Given the description of an element on the screen output the (x, y) to click on. 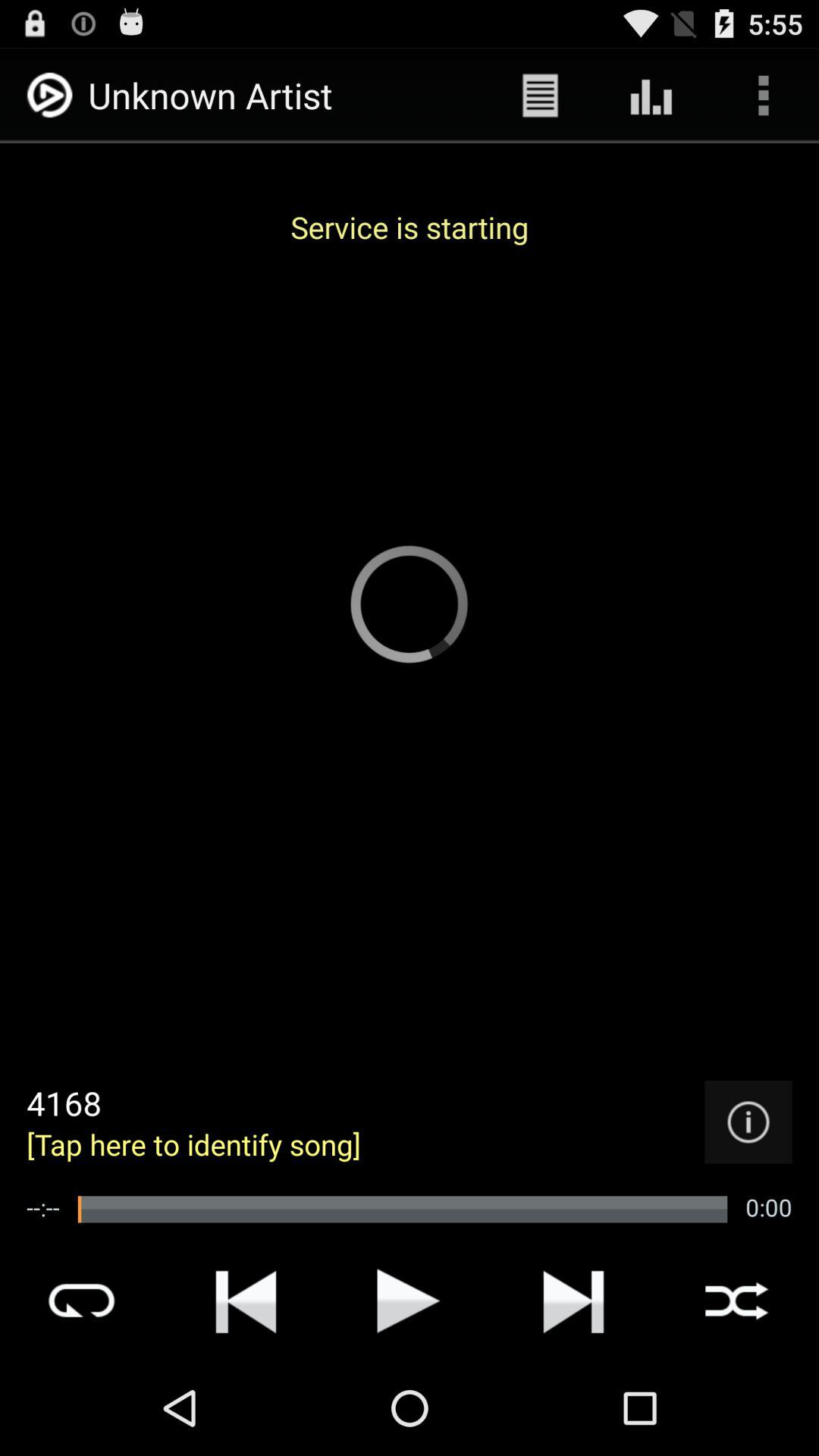
launch icon above service is starting item (651, 95)
